Given the description of an element on the screen output the (x, y) to click on. 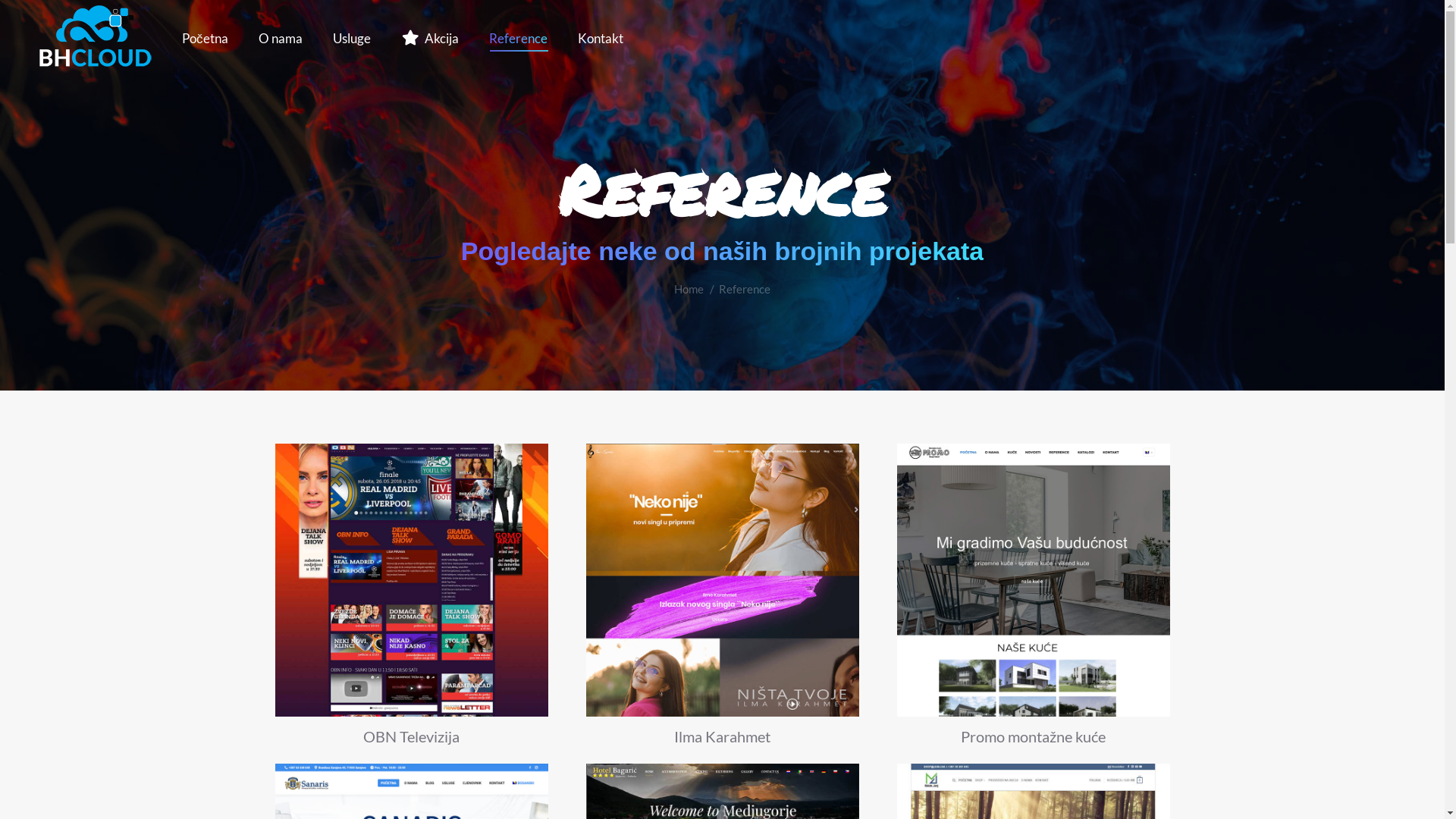
Usluge Element type: text (351, 37)
O nama Element type: text (279, 37)
Reference Element type: text (517, 37)
Kontakt Element type: text (600, 37)
Home Element type: text (688, 288)
Akcija Element type: text (429, 37)
